Given the description of an element on the screen output the (x, y) to click on. 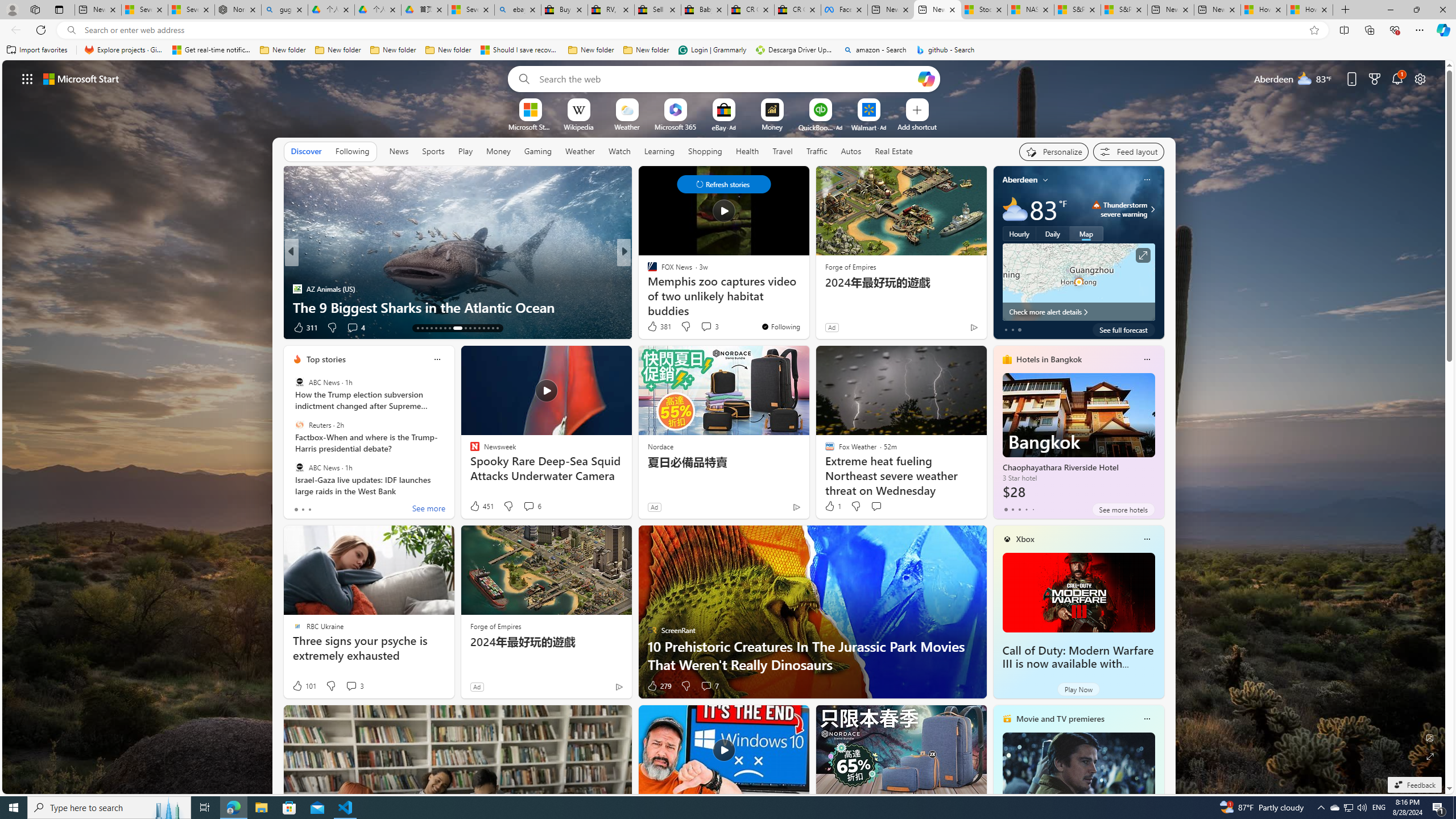
Feed settings (1128, 151)
Learning (659, 151)
Health (746, 151)
Page settings (1420, 78)
News (398, 151)
Split screen (1344, 29)
tab-3 (1025, 509)
Shopping (705, 151)
Facebook (844, 9)
Play (465, 151)
20 Like (652, 327)
279 Like (658, 685)
AutomationID: backgroundImagePicture (723, 426)
Hourly (1018, 233)
